Given the description of an element on the screen output the (x, y) to click on. 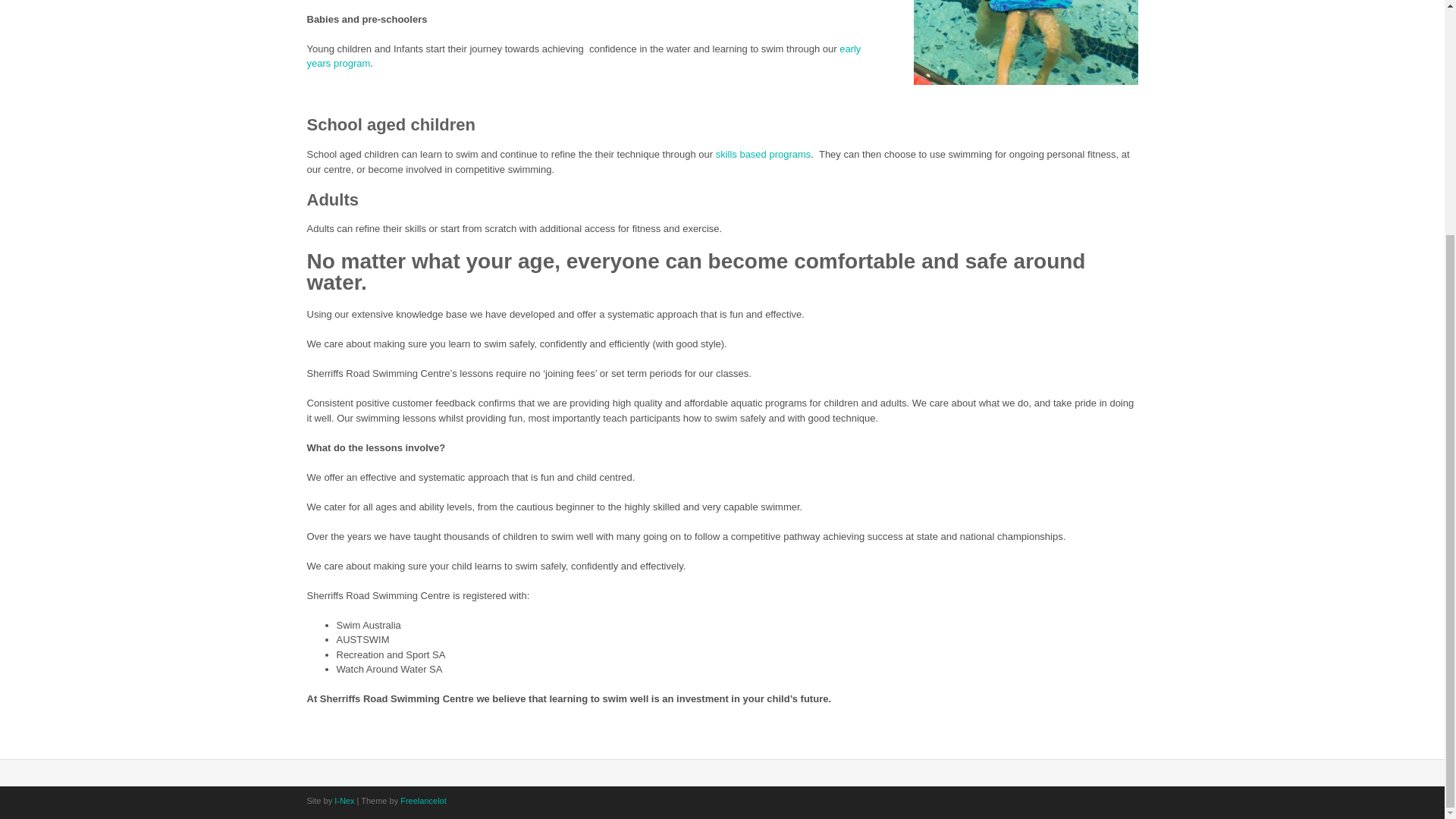
I-Nex (343, 800)
Freelancelot (423, 800)
skills based programs (763, 153)
early years program (582, 56)
